Given the description of an element on the screen output the (x, y) to click on. 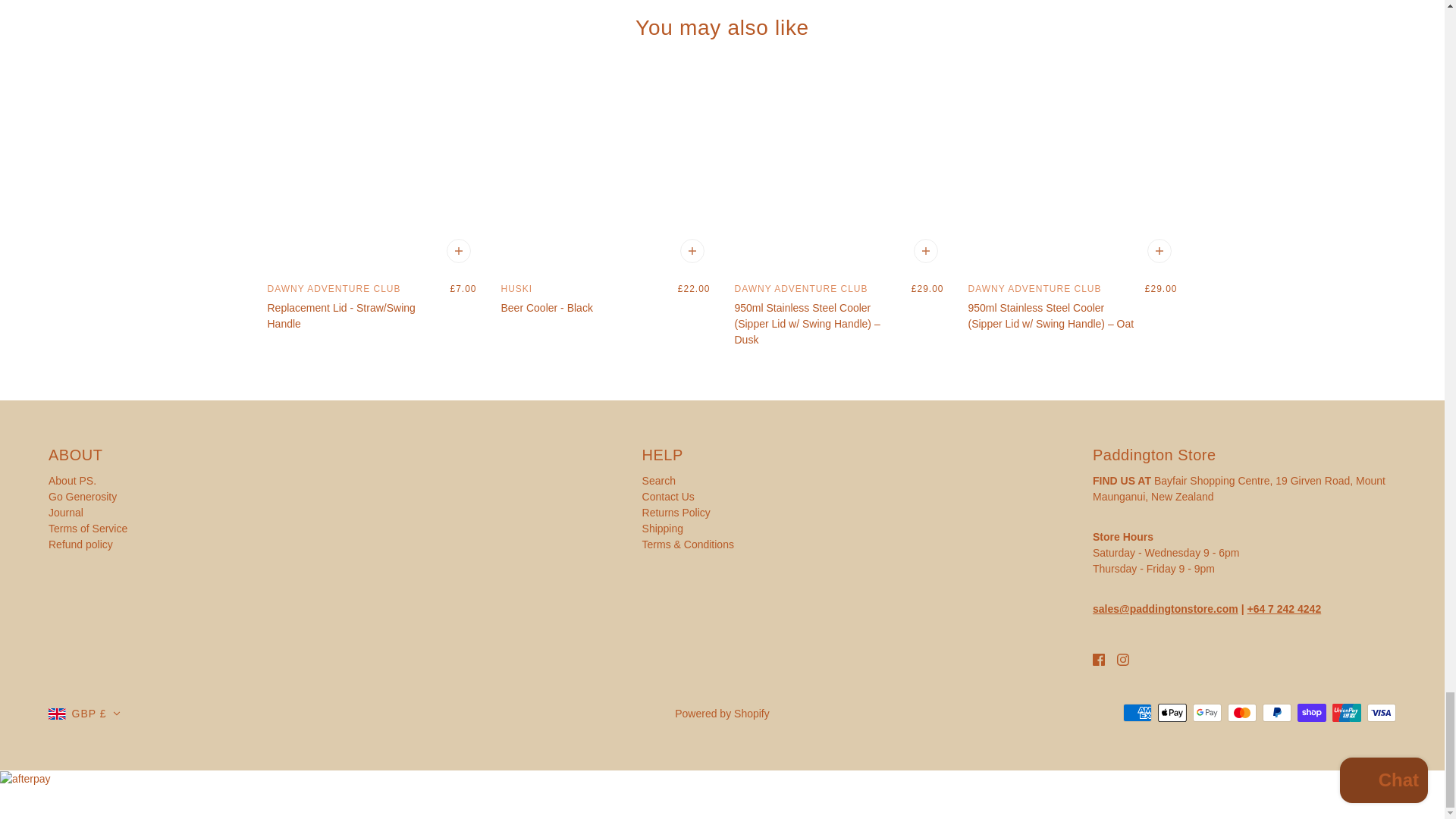
Returns Policy (676, 512)
Terms of Service (88, 528)
Journal (65, 512)
Go Generosity (82, 496)
Contact Us (668, 496)
Refund policy (80, 544)
American Express (1136, 712)
Apple Pay (1171, 712)
About PS. (72, 480)
Search (658, 480)
